Given the description of an element on the screen output the (x, y) to click on. 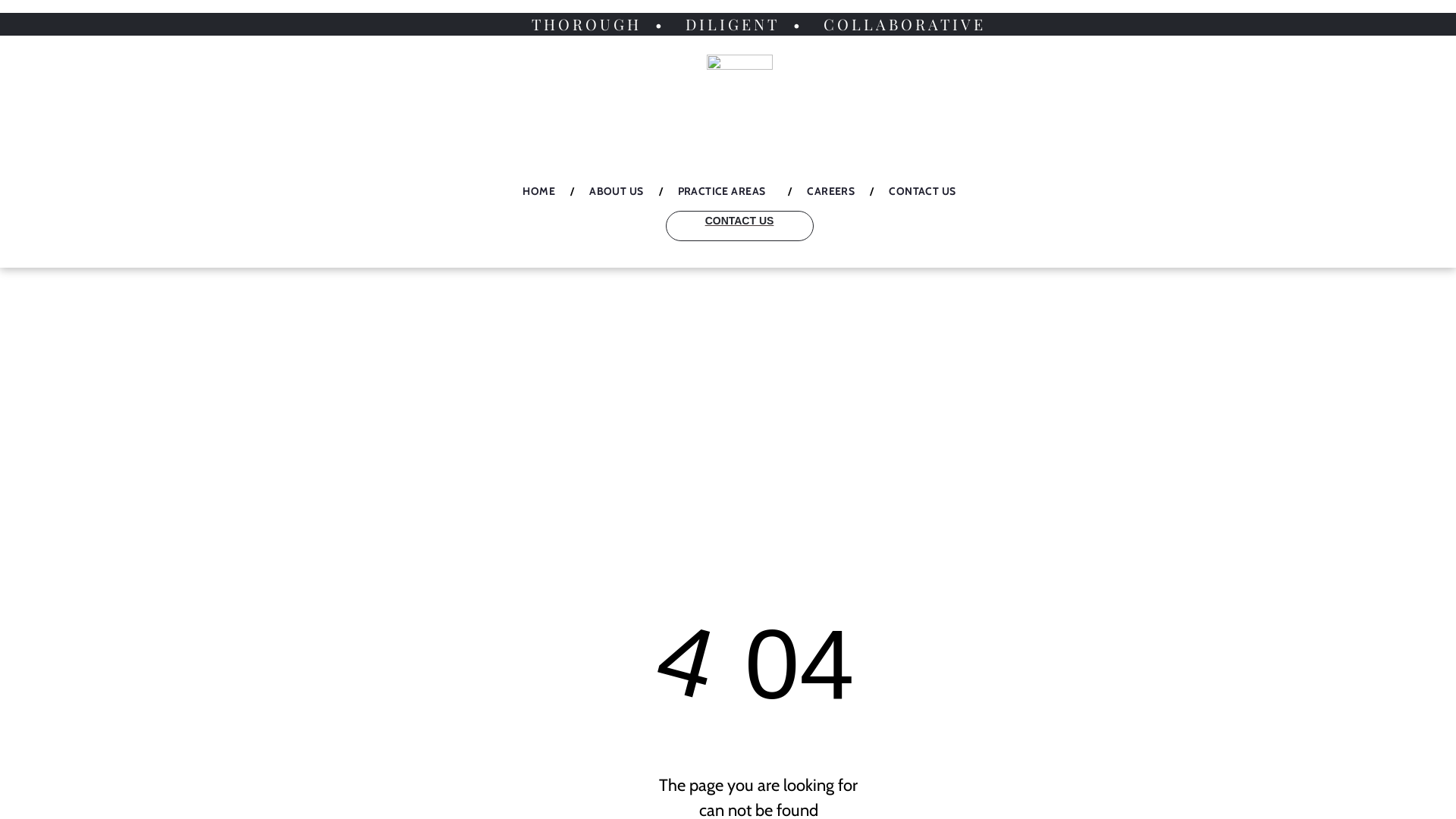
CAREERS Element type: text (830, 191)
PRACTICE AREAS Element type: text (725, 191)
CONTACT US Element type: text (921, 191)
HOME Element type: text (538, 191)
CONTACT US Element type: text (739, 225)
ABOUT US Element type: text (616, 191)
